Given the description of an element on the screen output the (x, y) to click on. 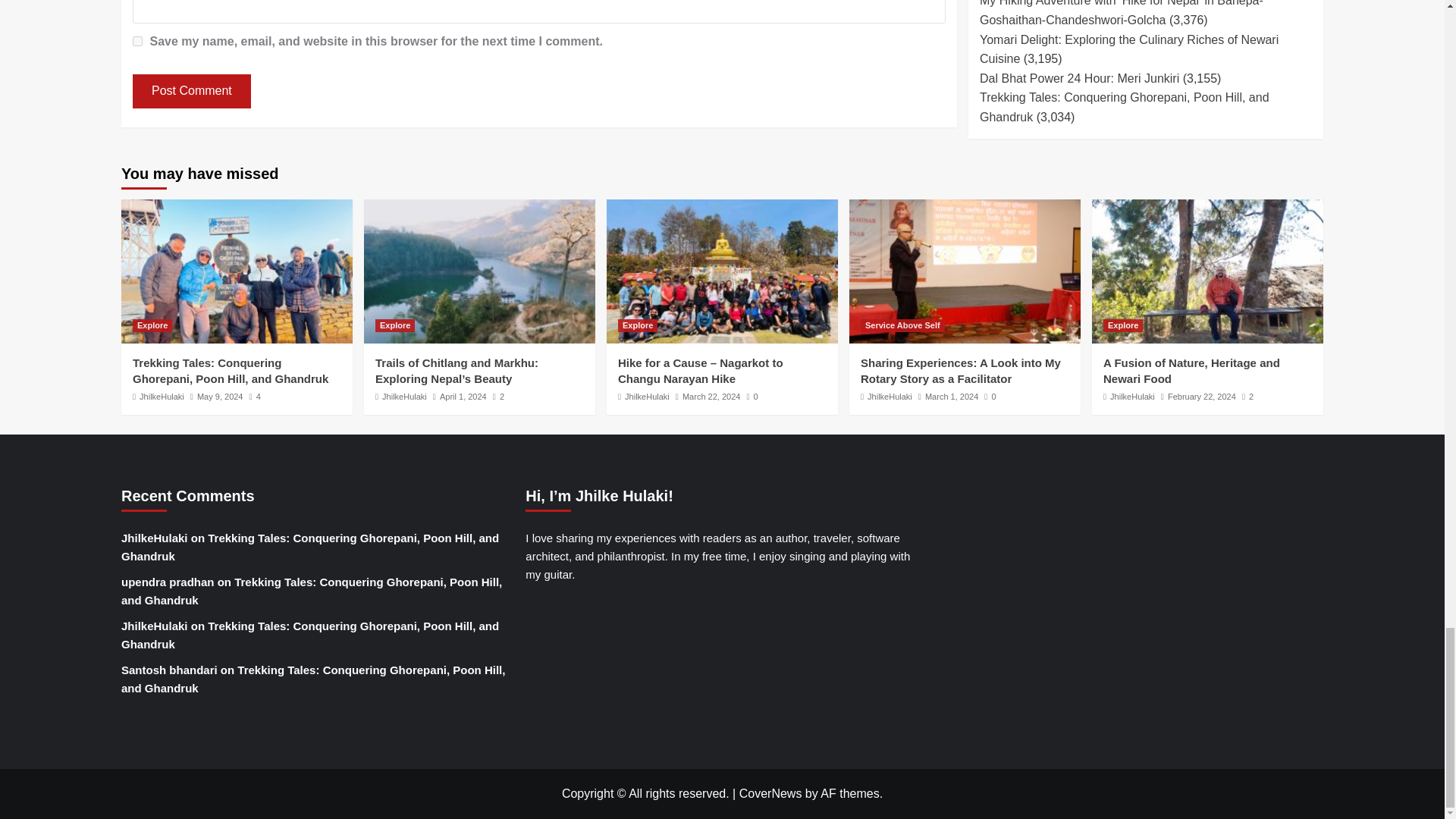
yes (137, 40)
Post Comment (191, 91)
